Given the description of an element on the screen output the (x, y) to click on. 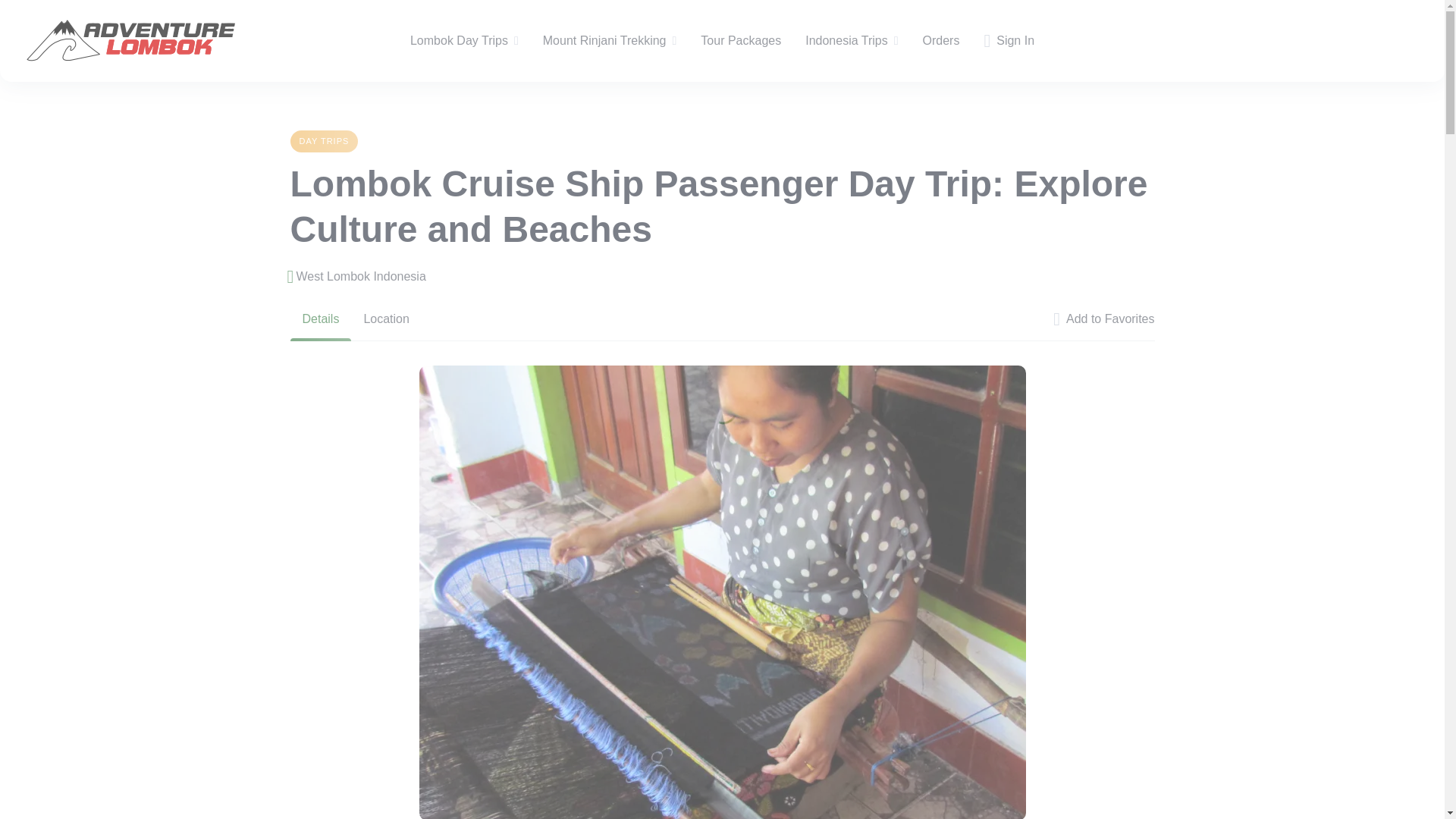
Indonesia Trips (846, 40)
Lombok Day Trips (459, 40)
Sign In (1008, 40)
Mount Rinjani Trekking (604, 40)
Orders (941, 40)
Tour Packages (740, 40)
